Given the description of an element on the screen output the (x, y) to click on. 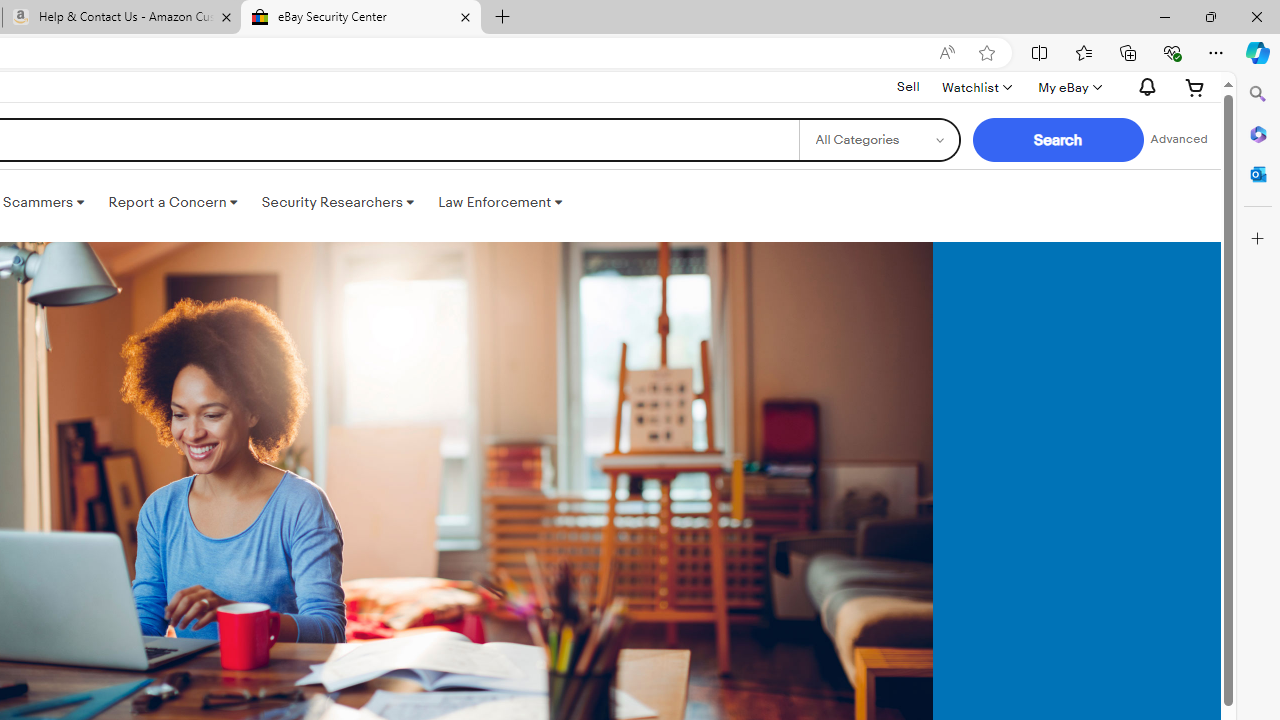
Advanced Search (1179, 139)
Law Enforcement  (500, 202)
Security Researchers  (337, 202)
eBay Security Center (360, 17)
Law Enforcement  (500, 202)
AutomationID: gh-eb-Alerts (1144, 87)
